Given the description of an element on the screen output the (x, y) to click on. 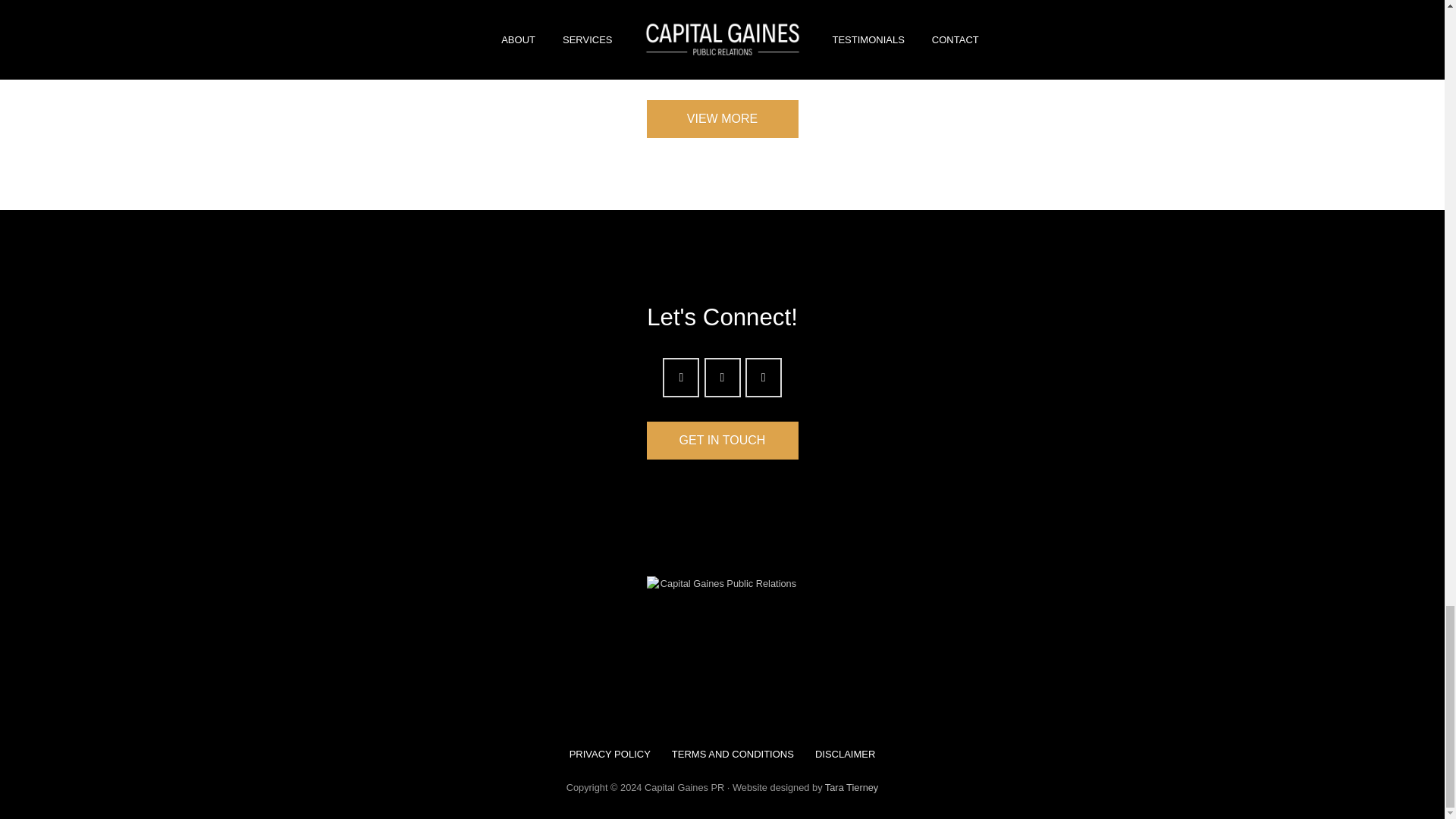
Capital Gaines PR on Instagram (680, 377)
GET IN TOUCH (721, 440)
Capital Gaines PR on Facebook (721, 377)
PRIVACY POLICY (610, 753)
Capital Gaines PR on Linkedin (763, 377)
VIEW MORE (721, 118)
